Given the description of an element on the screen output the (x, y) to click on. 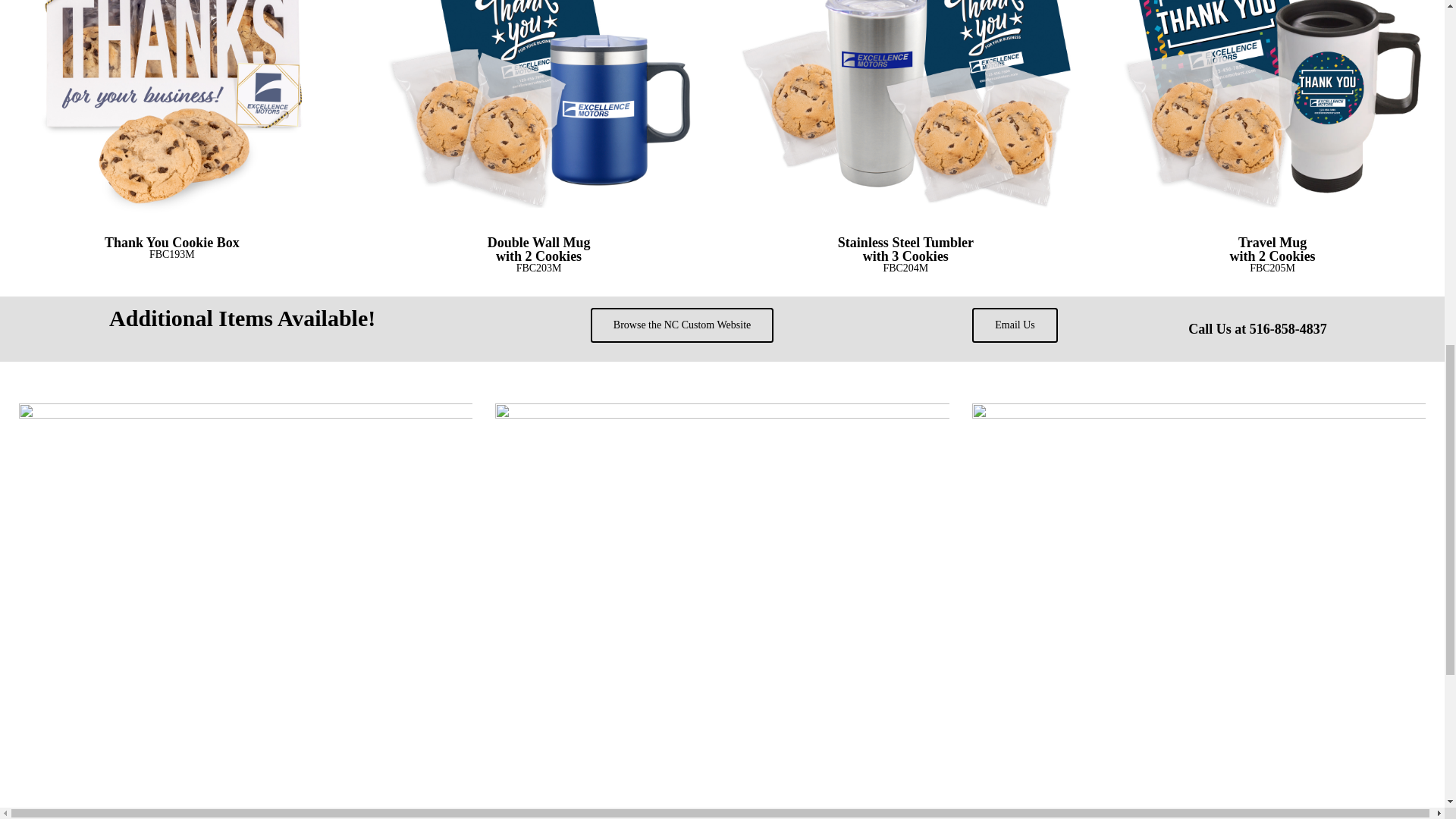
Email Us (1015, 325)
Browse the NC Custom Website (682, 325)
